Given the description of an element on the screen output the (x, y) to click on. 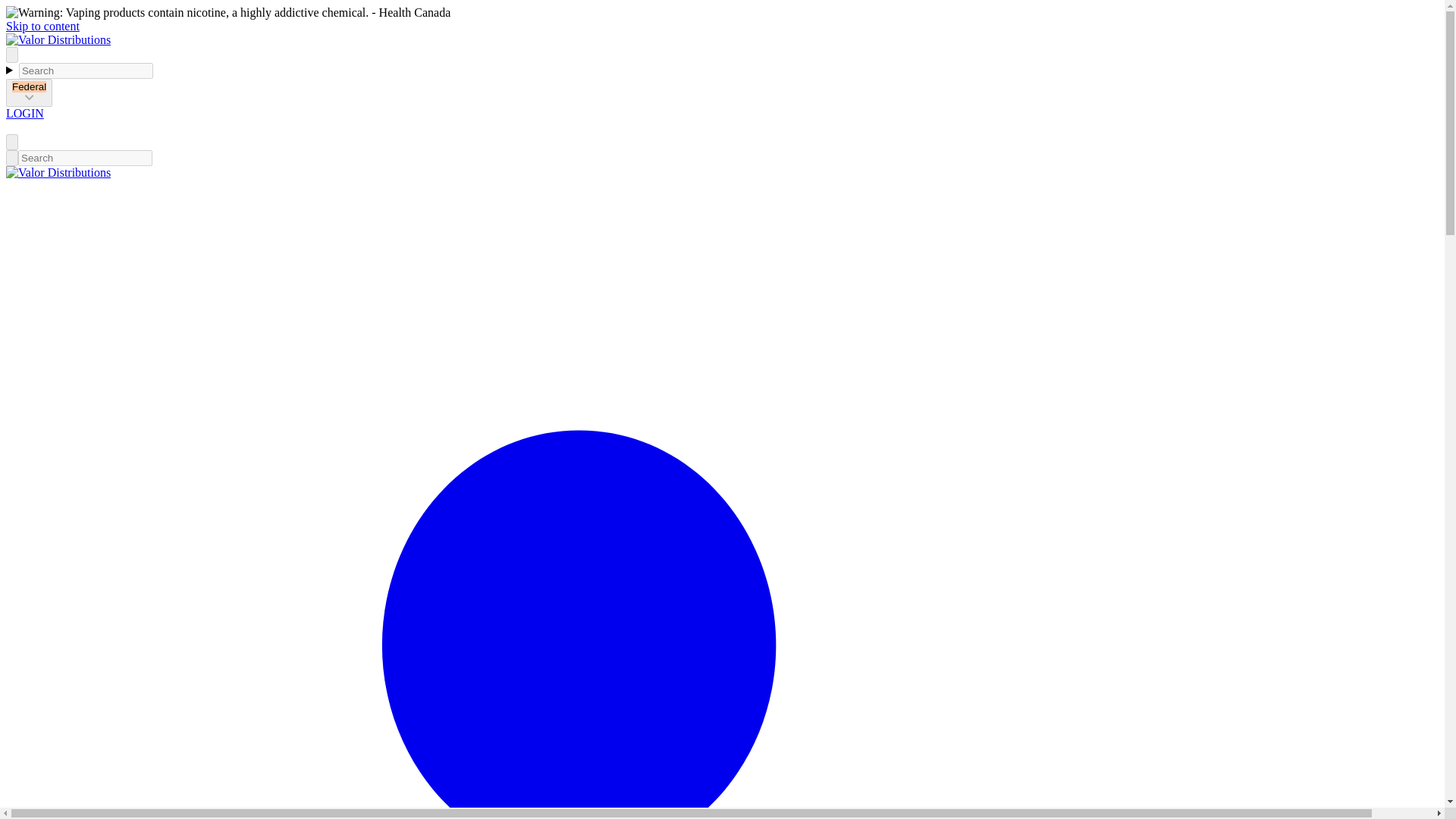
Skip to content (42, 25)
Federal (28, 92)
LOGIN (24, 113)
